Given the description of an element on the screen output the (x, y) to click on. 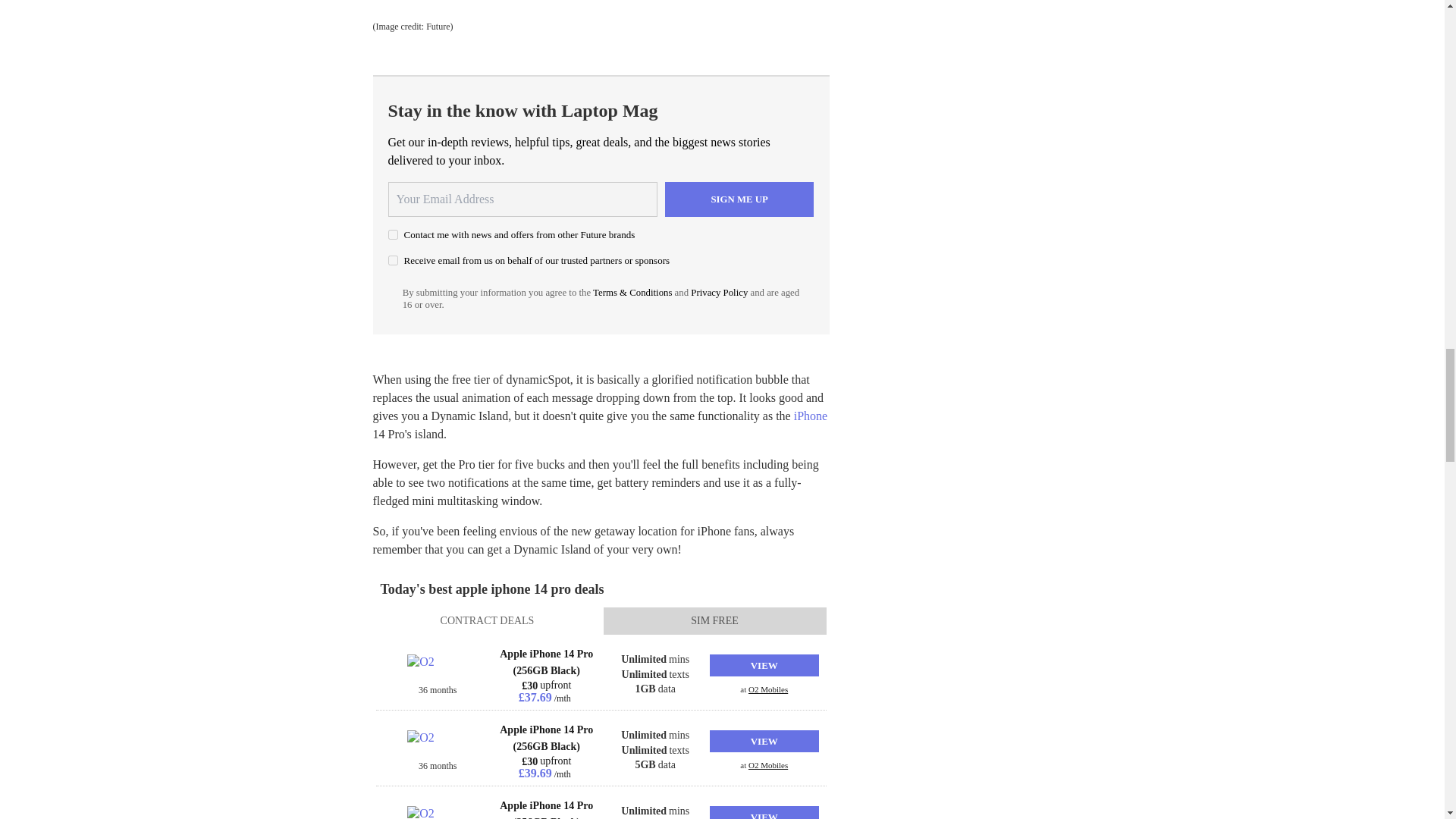
O2 (437, 745)
O2 (437, 812)
Sign me up (739, 199)
on (392, 260)
O2 (437, 669)
on (392, 234)
